Given the description of an element on the screen output the (x, y) to click on. 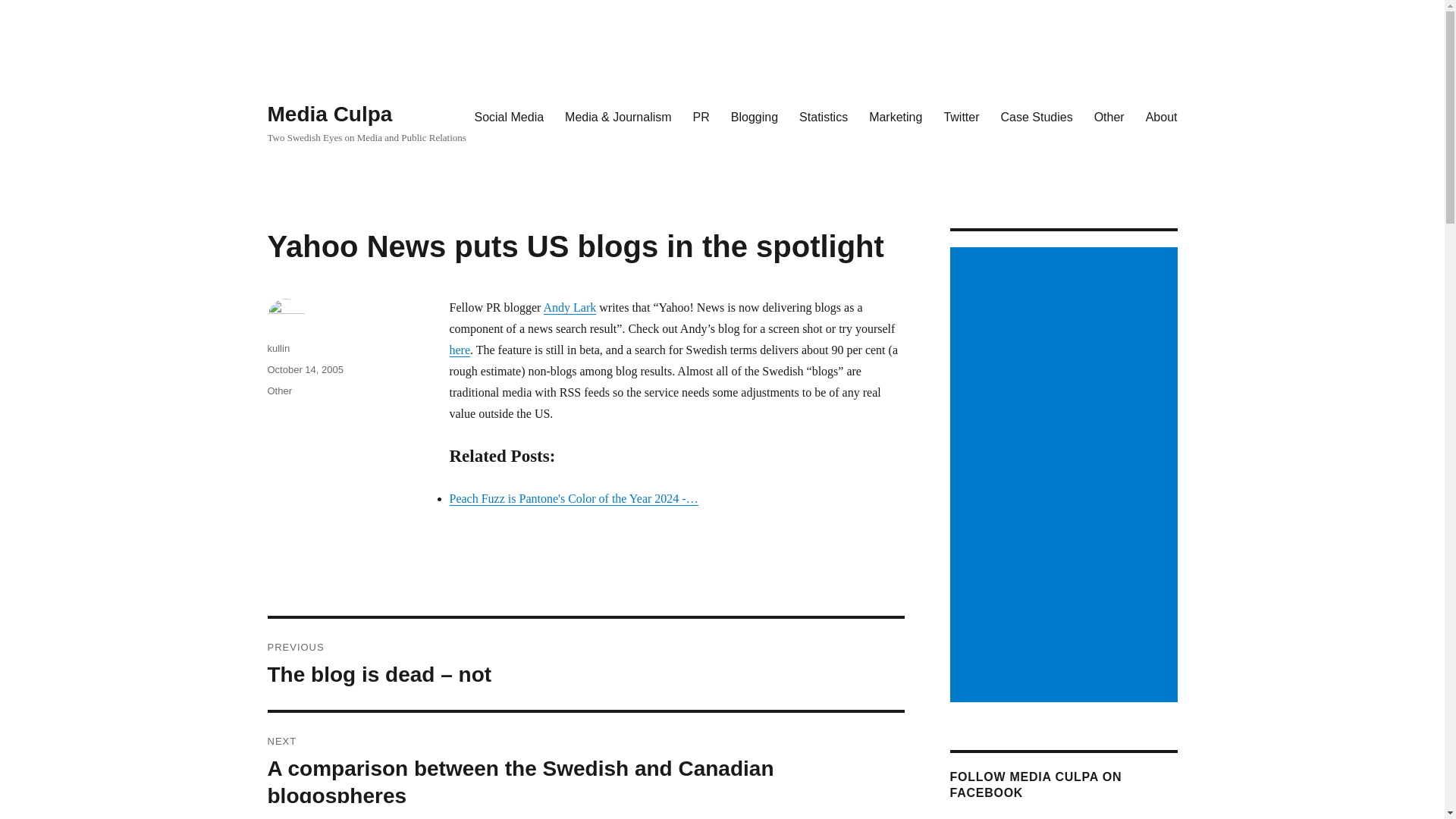
Blogging (754, 116)
Andy Lark (569, 307)
Marketing (896, 116)
October 14, 2005 (304, 369)
Statistics (824, 116)
Other (1109, 116)
PR (701, 116)
Other (279, 390)
About (1161, 116)
kullin (277, 348)
FOLLOW MEDIA CULPA ON FACEBOOK (1035, 784)
Case Studies (1036, 116)
Media Culpa (328, 114)
